Given the description of an element on the screen output the (x, y) to click on. 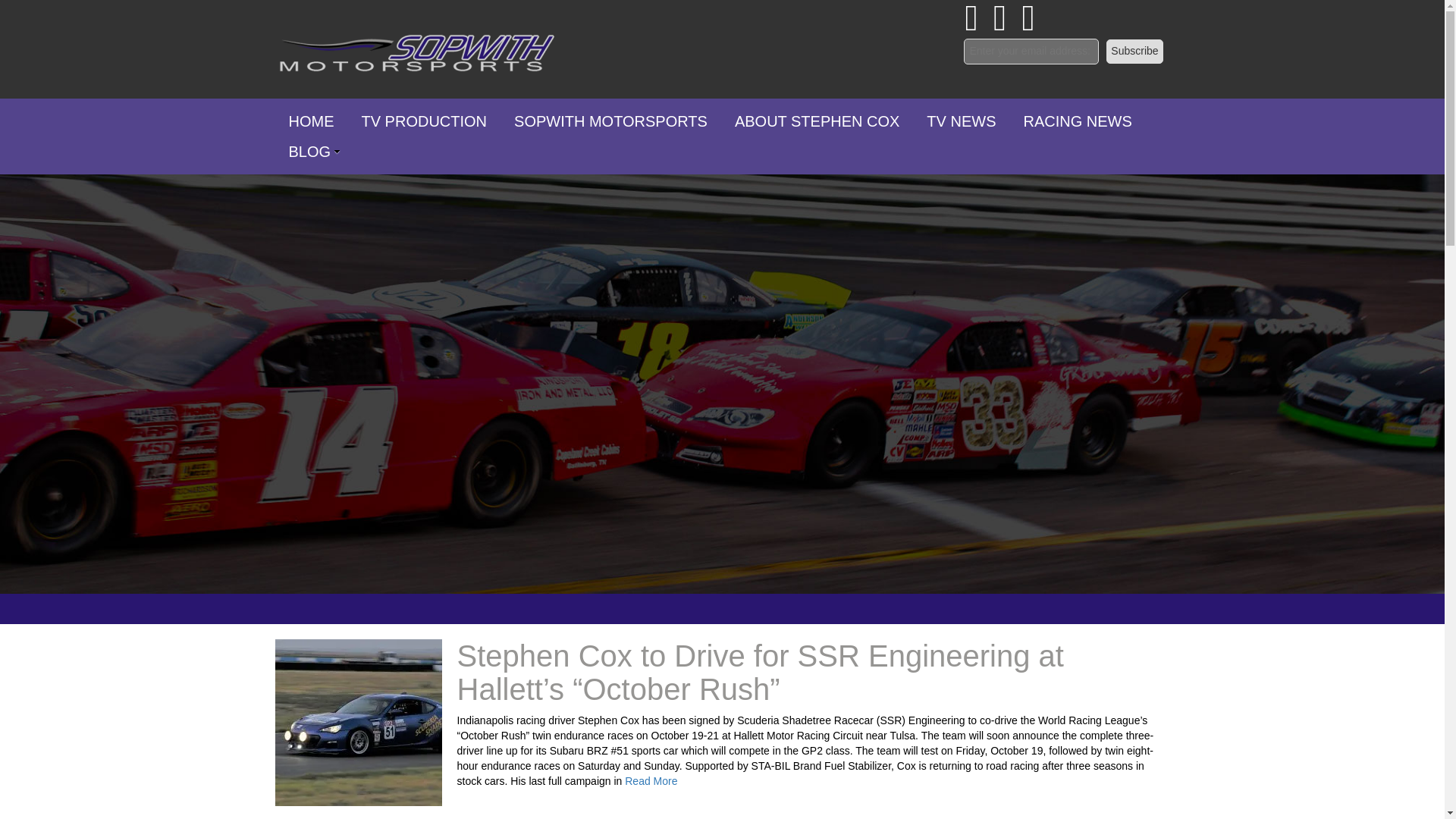
BLOG (309, 151)
TV NEWS (960, 121)
Subscribe (1133, 51)
SOPWITH MOTORSPORTS (610, 121)
RACING NEWS (1076, 121)
HOME (311, 121)
Subscribe (1133, 51)
ABOUT STEPHEN COX (816, 121)
TV PRODUCTION (423, 121)
Read More (650, 780)
